Given the description of an element on the screen output the (x, y) to click on. 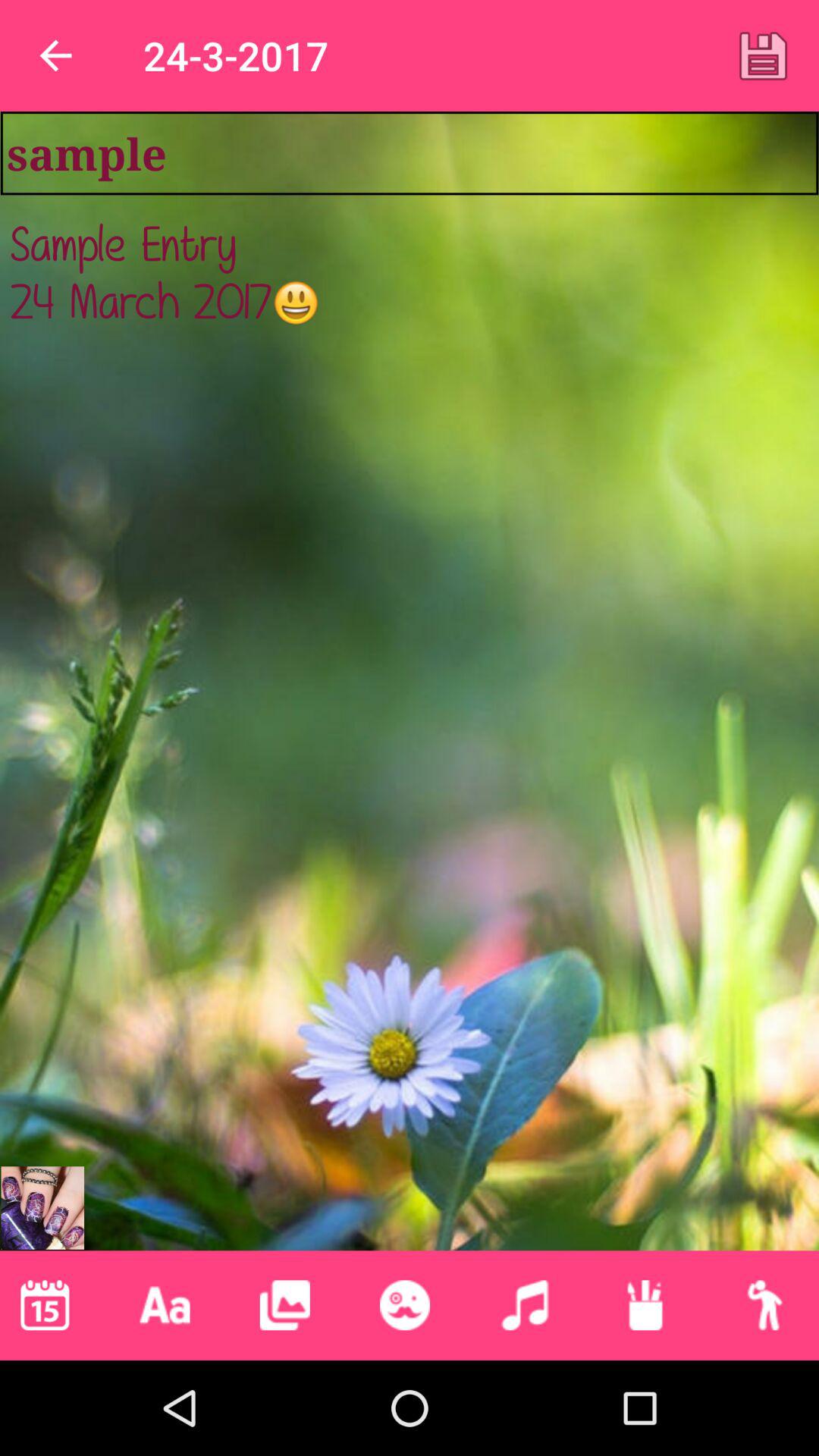
turn on icon to the left of the 24-3-2017 app (55, 55)
